Given the description of an element on the screen output the (x, y) to click on. 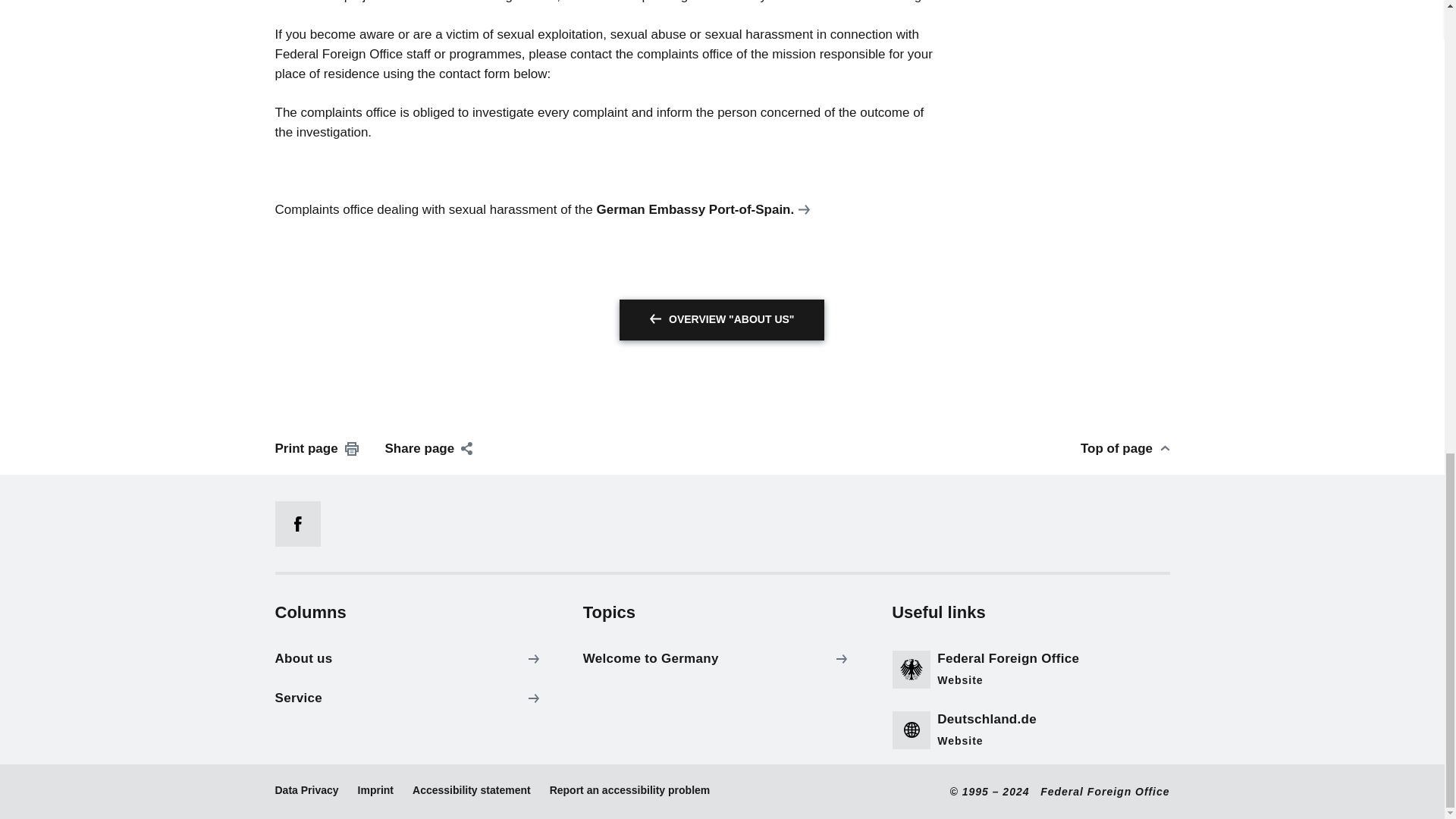
Service (410, 698)
About us (410, 658)
Overview About us (722, 319)
Print page (316, 448)
Top of page (1125, 448)
